Given the description of an element on the screen output the (x, y) to click on. 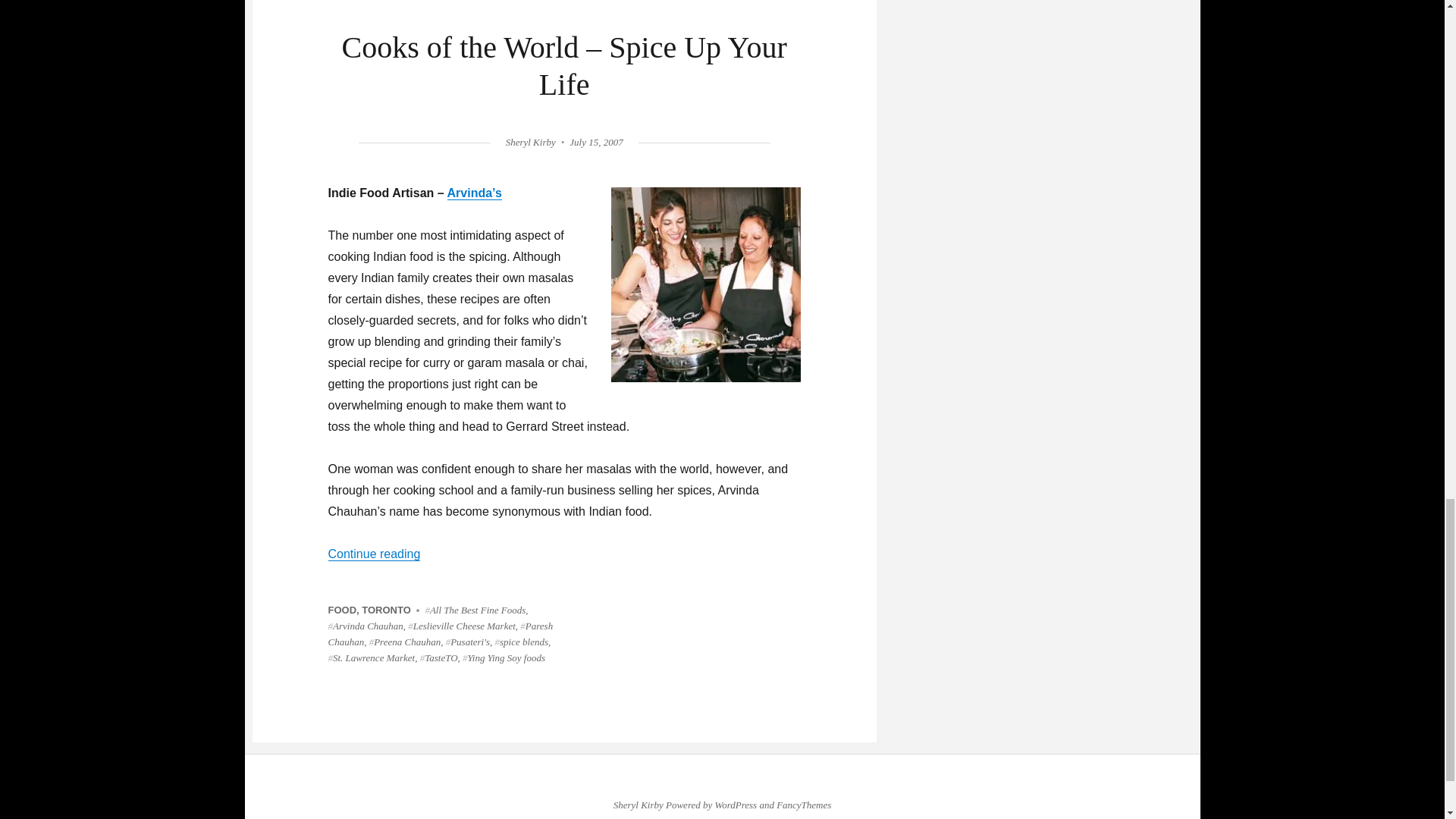
Preena Chauhan (405, 641)
Leslieville Cheese Market (461, 625)
Paresh Chauhan (440, 633)
Arvinda Chauhan (365, 625)
TORONTO (385, 609)
FOOD (341, 609)
All The Best Fine Foods (475, 609)
July 15, 2007 (596, 142)
Sheryl Kirby (530, 142)
